Given the description of an element on the screen output the (x, y) to click on. 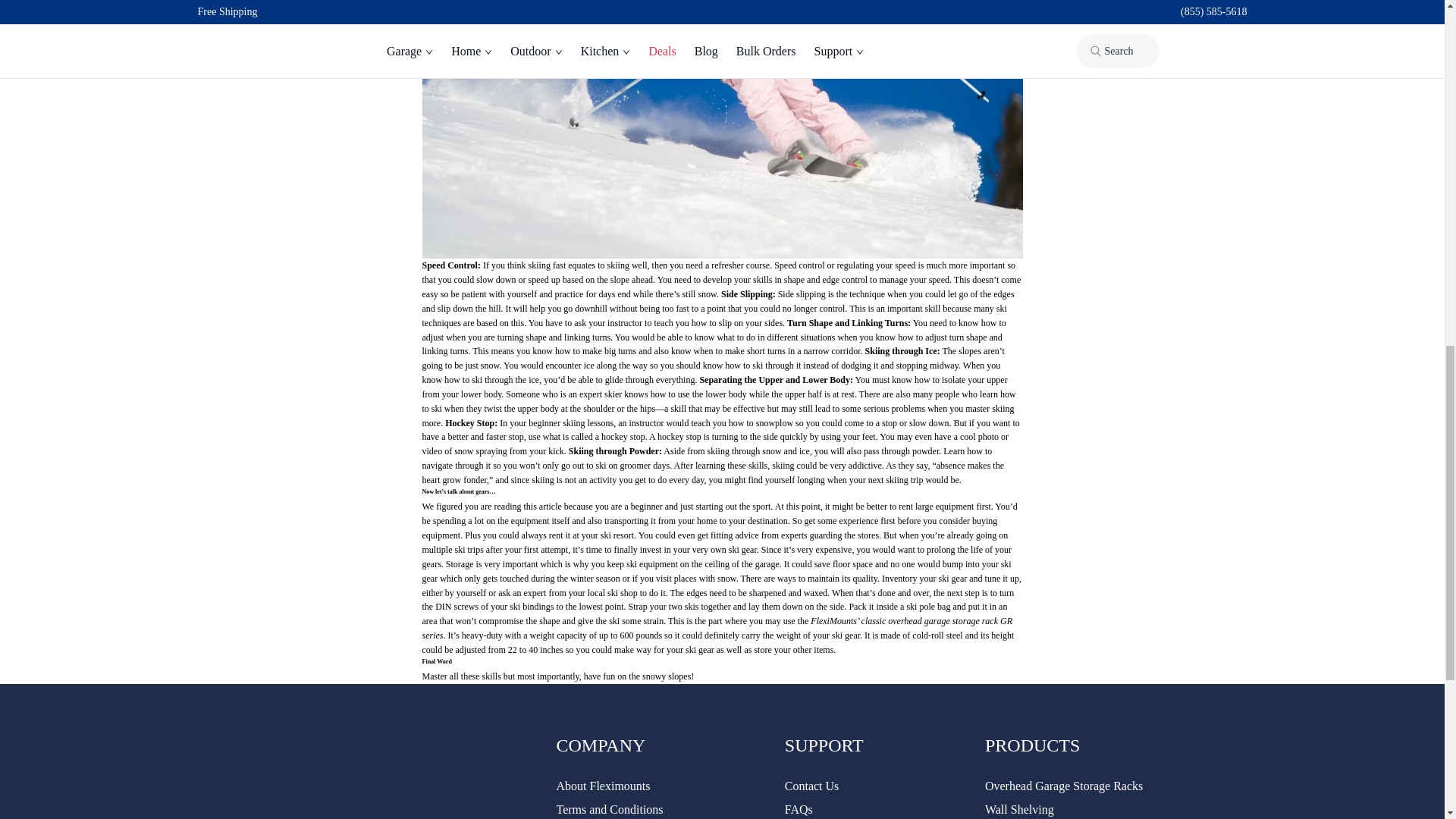
Contact Us (812, 785)
About Fleximounts (603, 785)
Overhead Garage Storage Racks (1063, 785)
Wall Shelving (1019, 809)
Terms and Conditions (609, 809)
FAQs (798, 809)
